Given the description of an element on the screen output the (x, y) to click on. 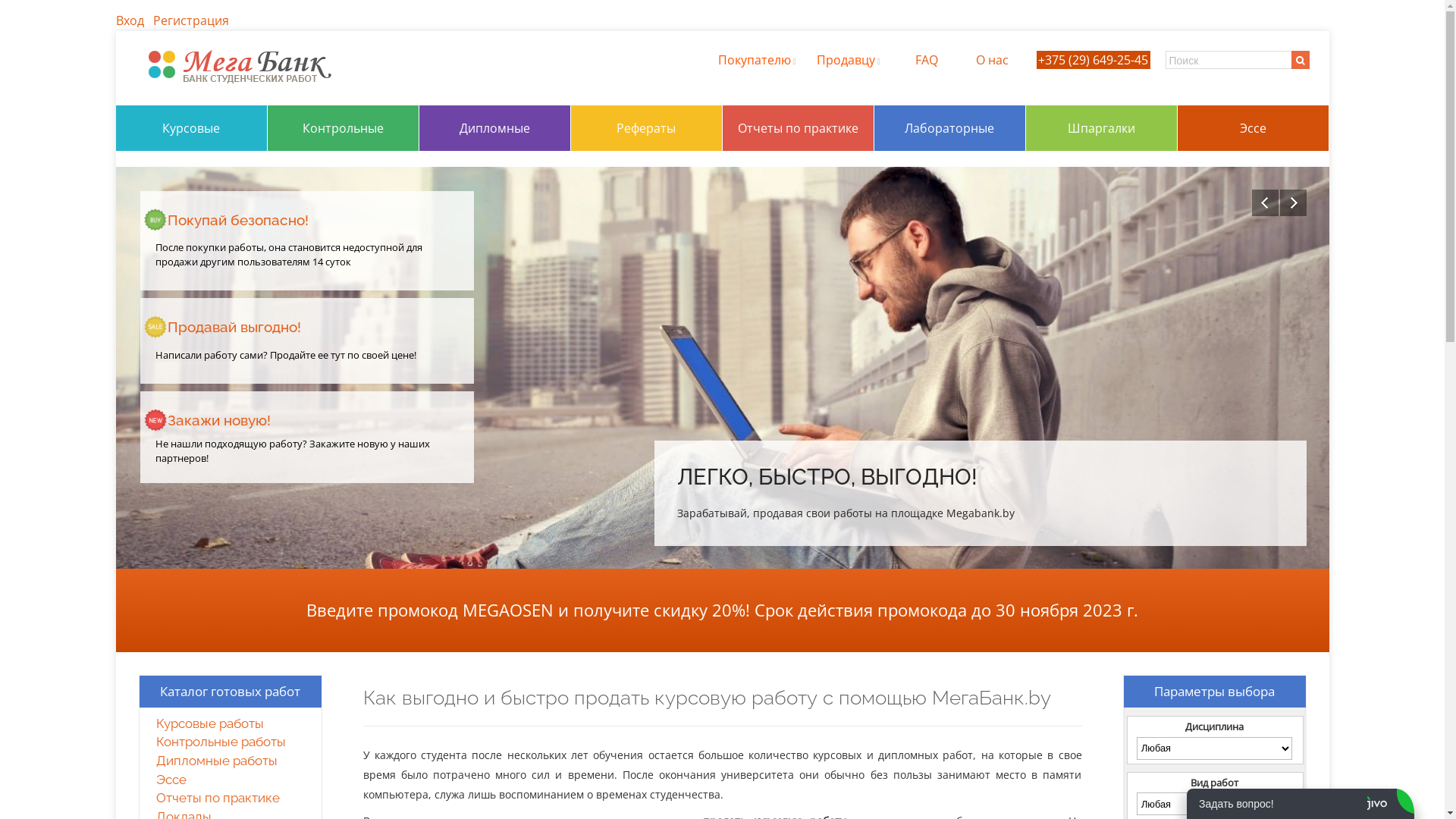
FAQ Element type: text (925, 59)
+375 (29) 649-25-45 Element type: text (1093, 59)
